Given the description of an element on the screen output the (x, y) to click on. 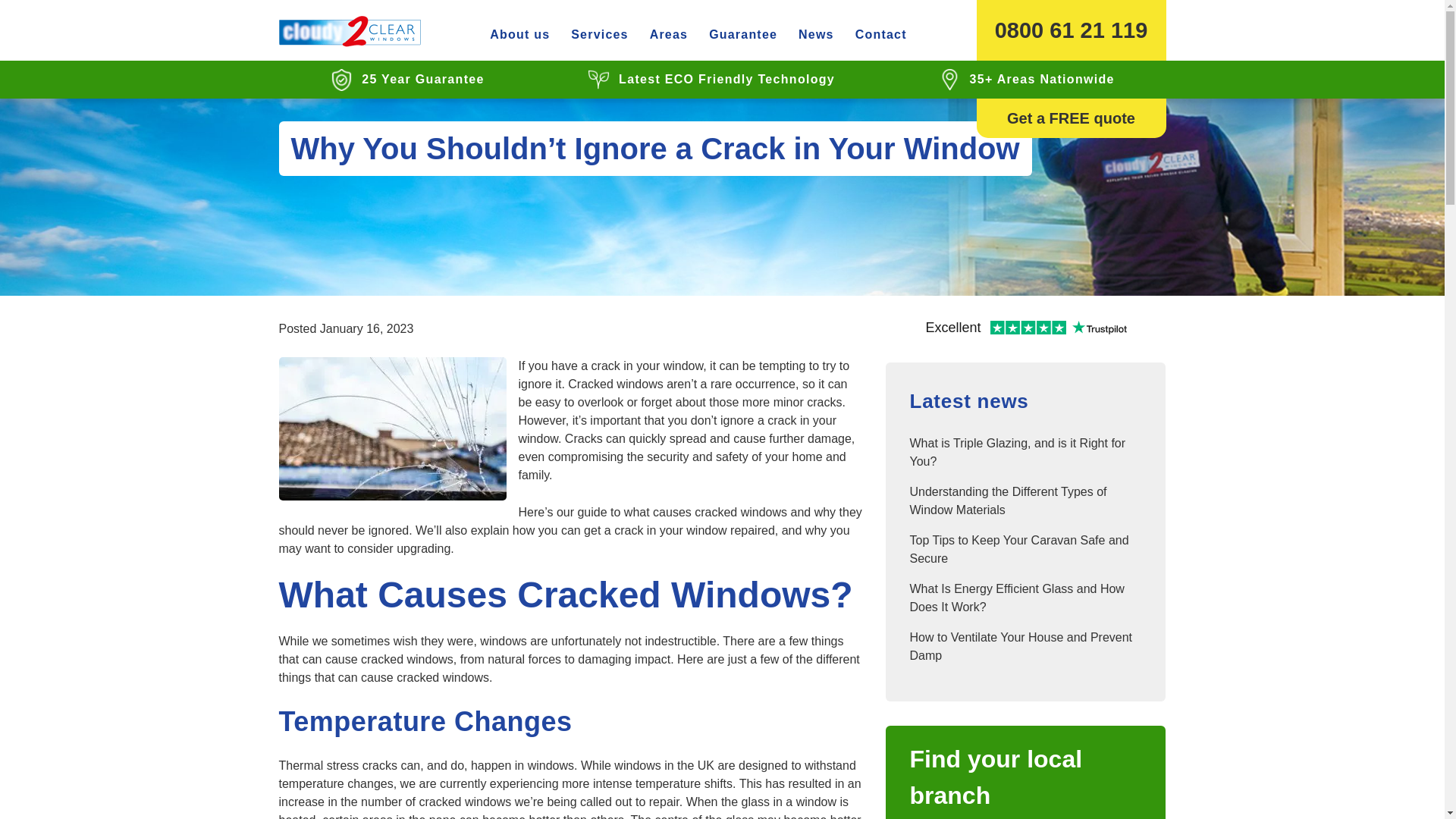
Customer reviews powered by Trustpilot (1025, 329)
About us (519, 34)
Areas (668, 34)
0800 61 21 119 (1071, 30)
Services (599, 34)
